Given the description of an element on the screen output the (x, y) to click on. 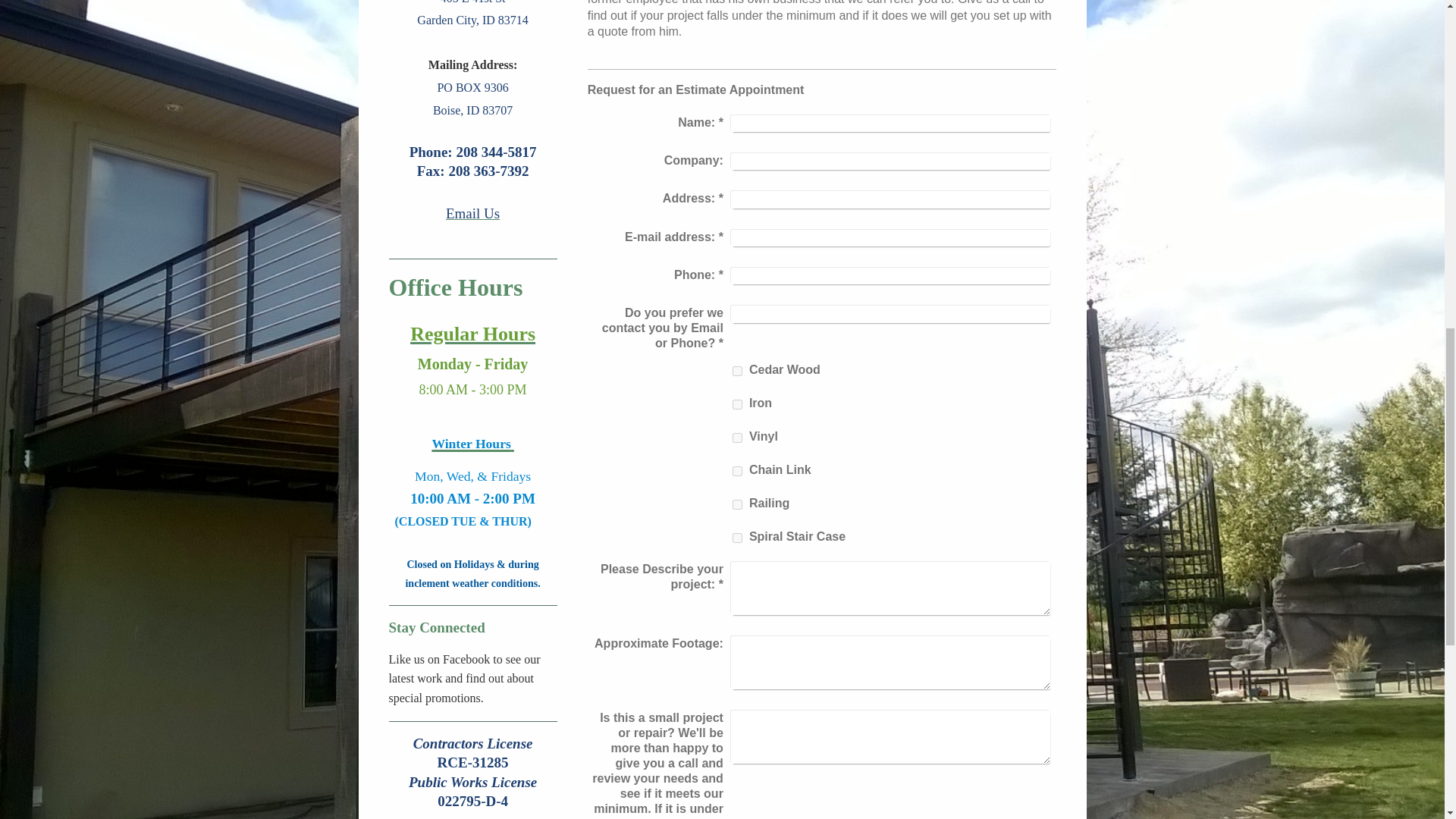
on (737, 470)
on (737, 404)
on (737, 537)
on (737, 438)
on (737, 504)
on (737, 370)
